Given the description of an element on the screen output the (x, y) to click on. 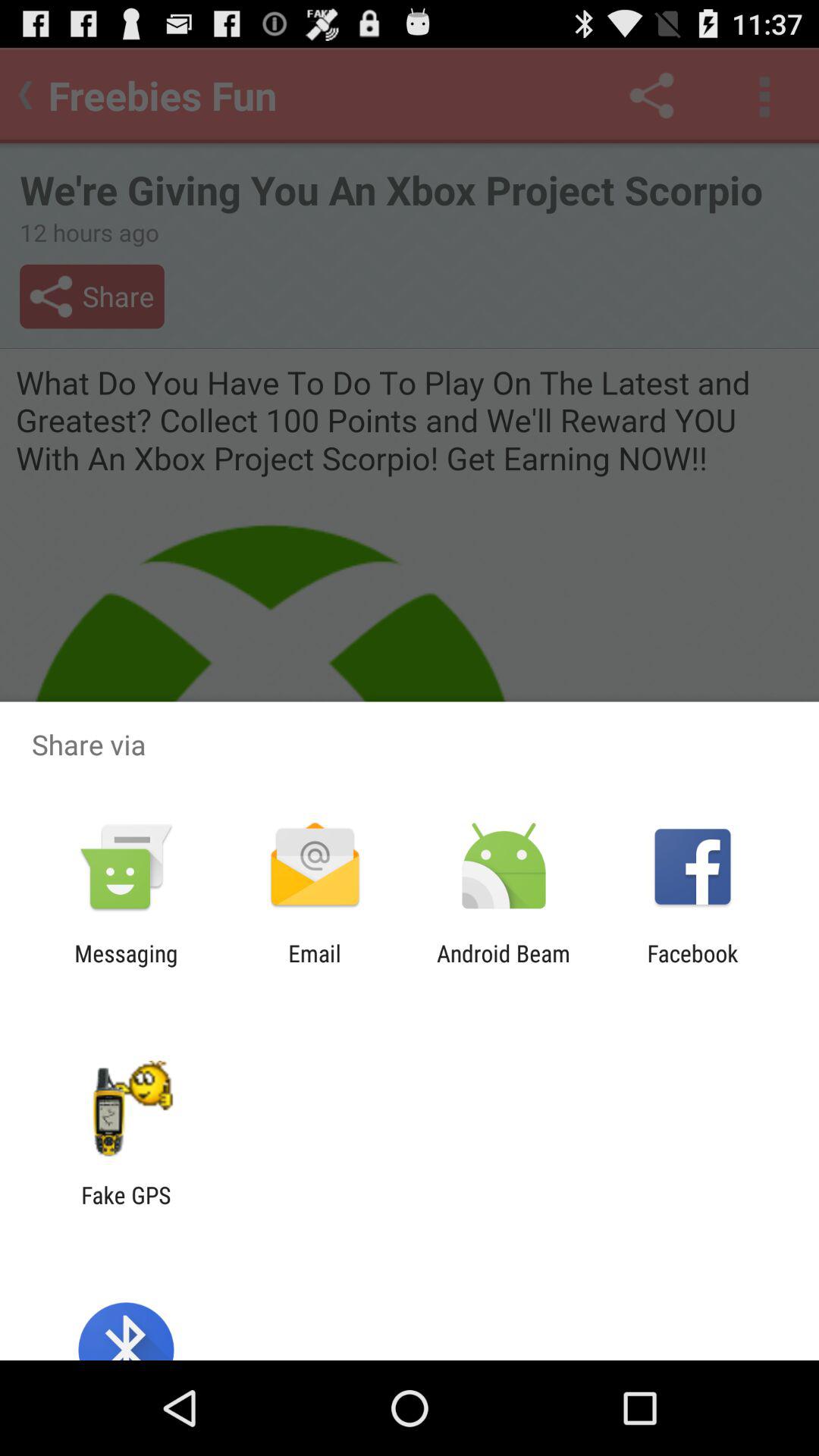
flip until email icon (314, 966)
